Given the description of an element on the screen output the (x, y) to click on. 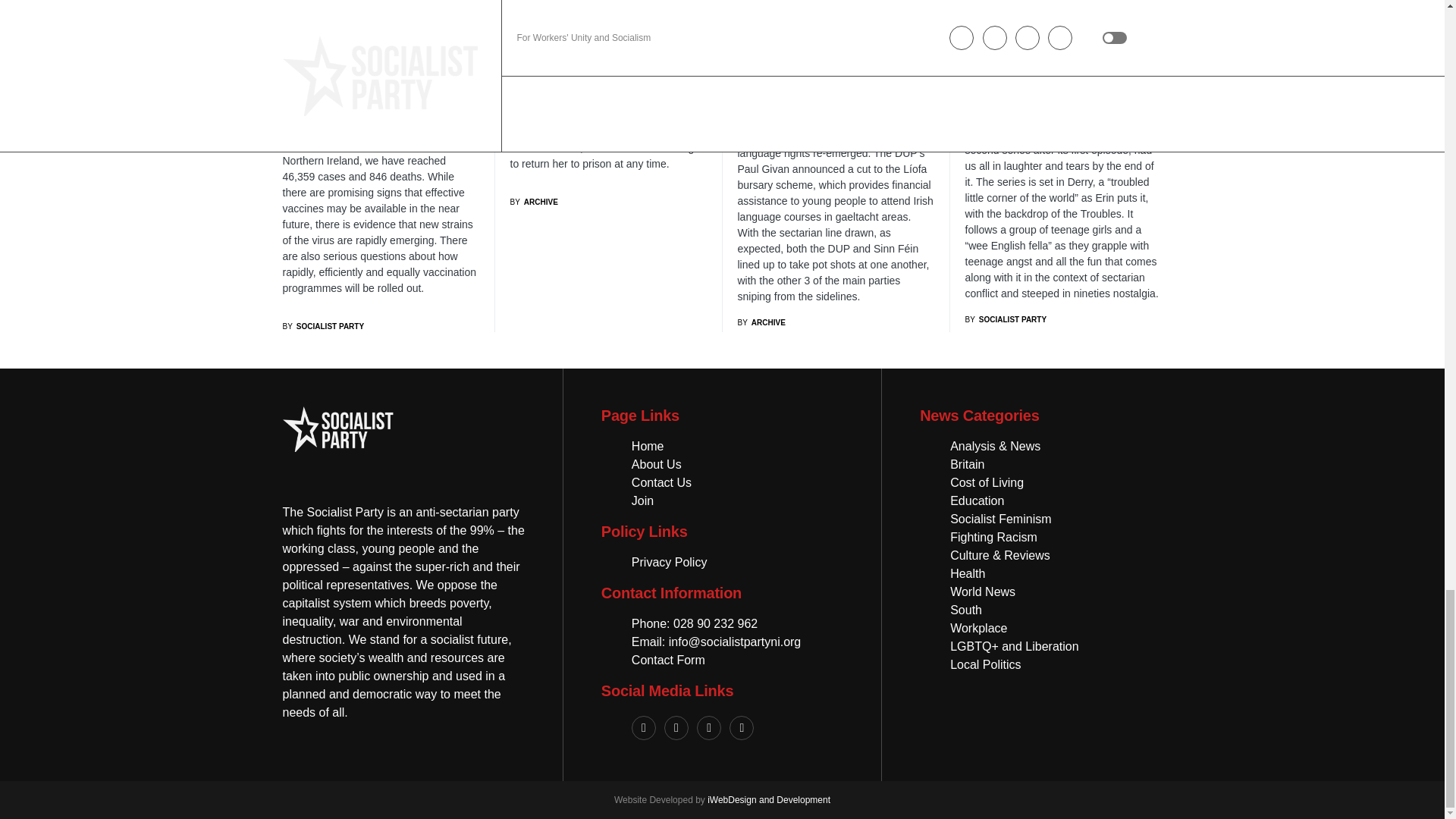
View all posts by Archive (533, 202)
View all posts by Socialist Party (323, 326)
View all posts by Socialist Party (1004, 319)
View all posts by Archive (760, 322)
